Given the description of an element on the screen output the (x, y) to click on. 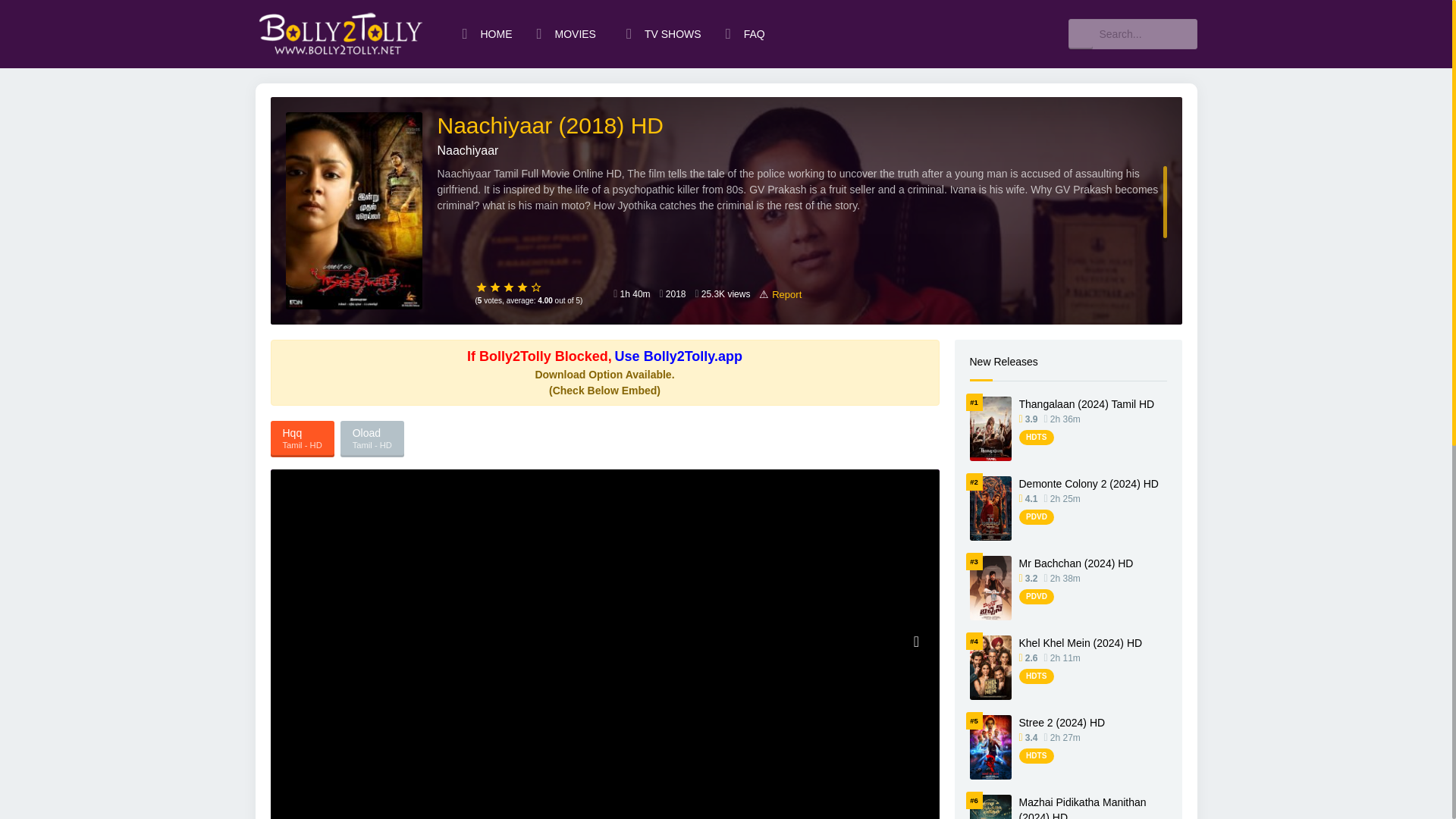
2 Stars (494, 287)
MOVIES (569, 33)
4 Stars (522, 287)
TV SHOWS (663, 33)
3 Stars (508, 287)
HOME (486, 33)
FAQ (745, 33)
1 Star (480, 287)
5 Stars (536, 287)
